Given the description of an element on the screen output the (x, y) to click on. 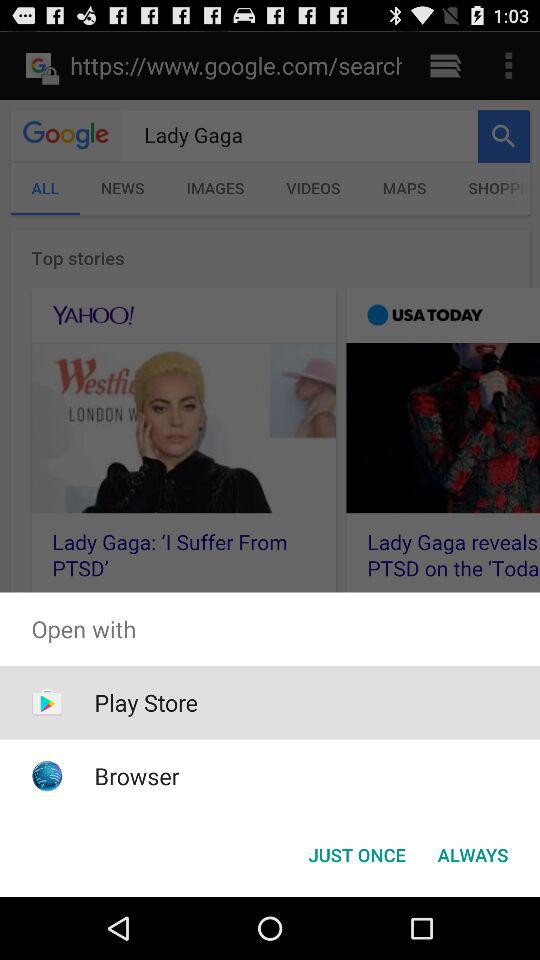
press icon below play store item (136, 775)
